Given the description of an element on the screen output the (x, y) to click on. 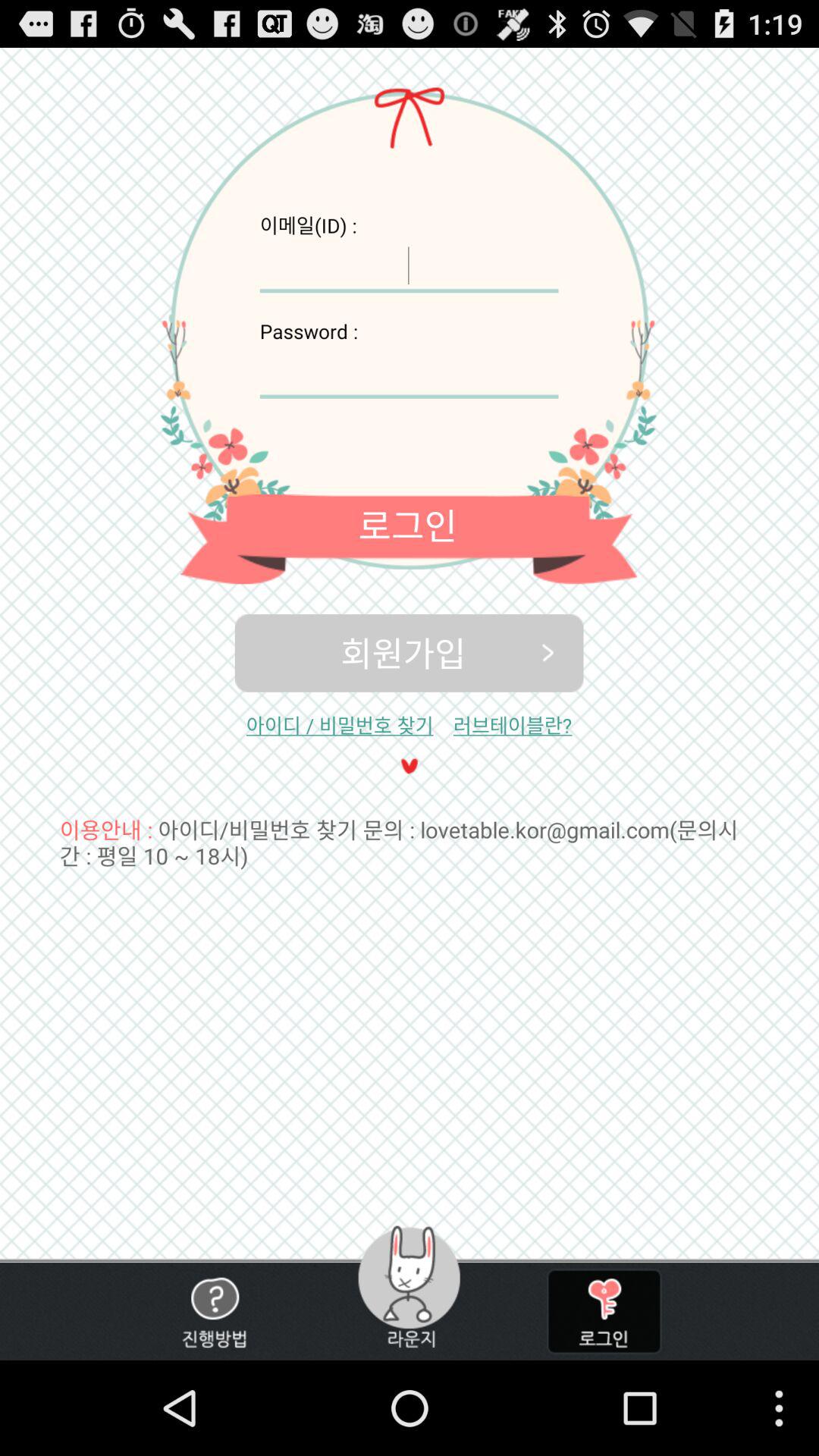
contact us (213, 1311)
